Given the description of an element on the screen output the (x, y) to click on. 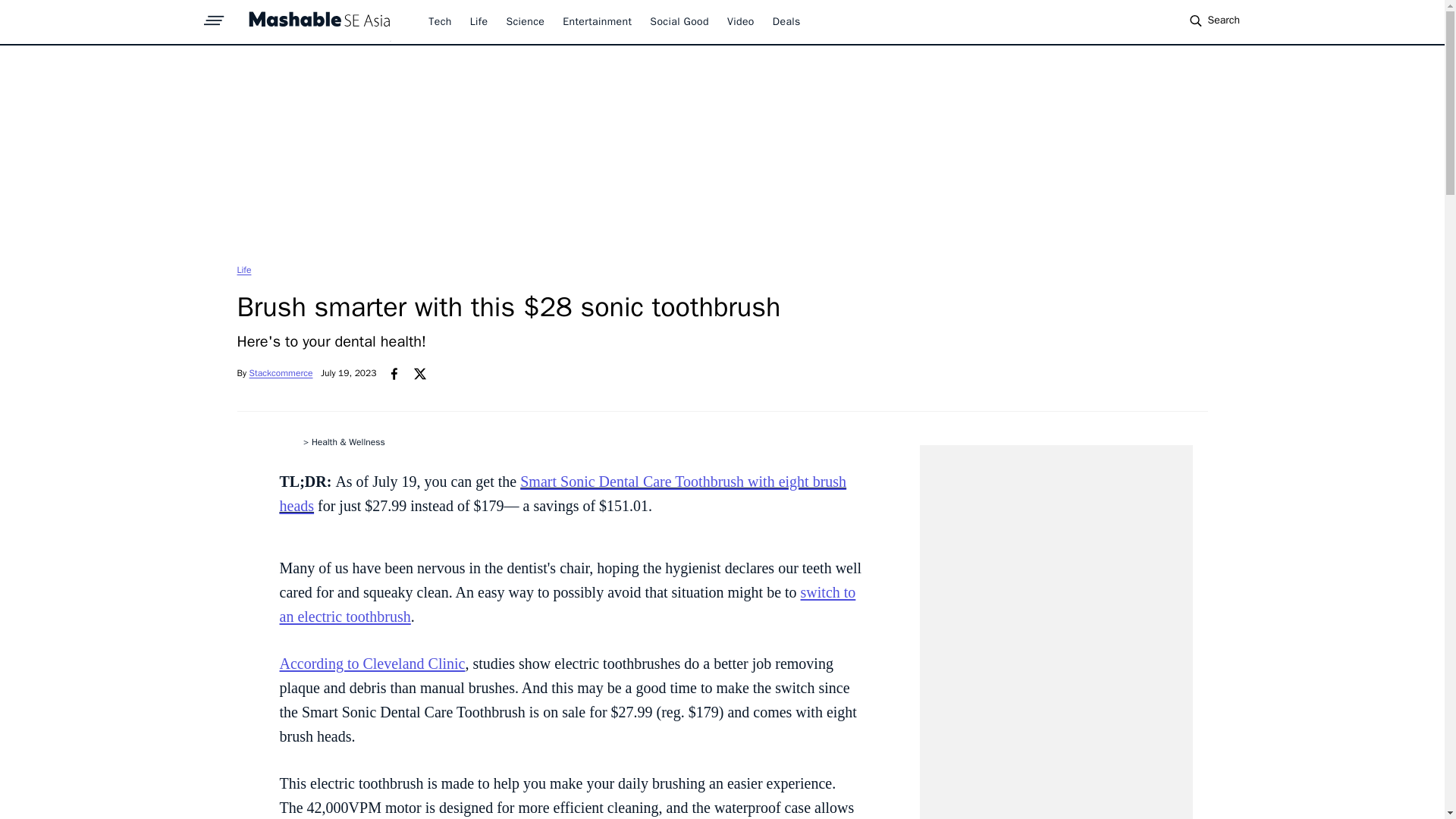
switch to an electric toothbrush (567, 603)
Entertainment (596, 21)
Deals (786, 21)
Video (740, 21)
Stackcommerce (280, 372)
Life (478, 21)
Life (242, 269)
sprite-hamburger (213, 16)
Social Good (679, 21)
Tech (439, 21)
